Given the description of an element on the screen output the (x, y) to click on. 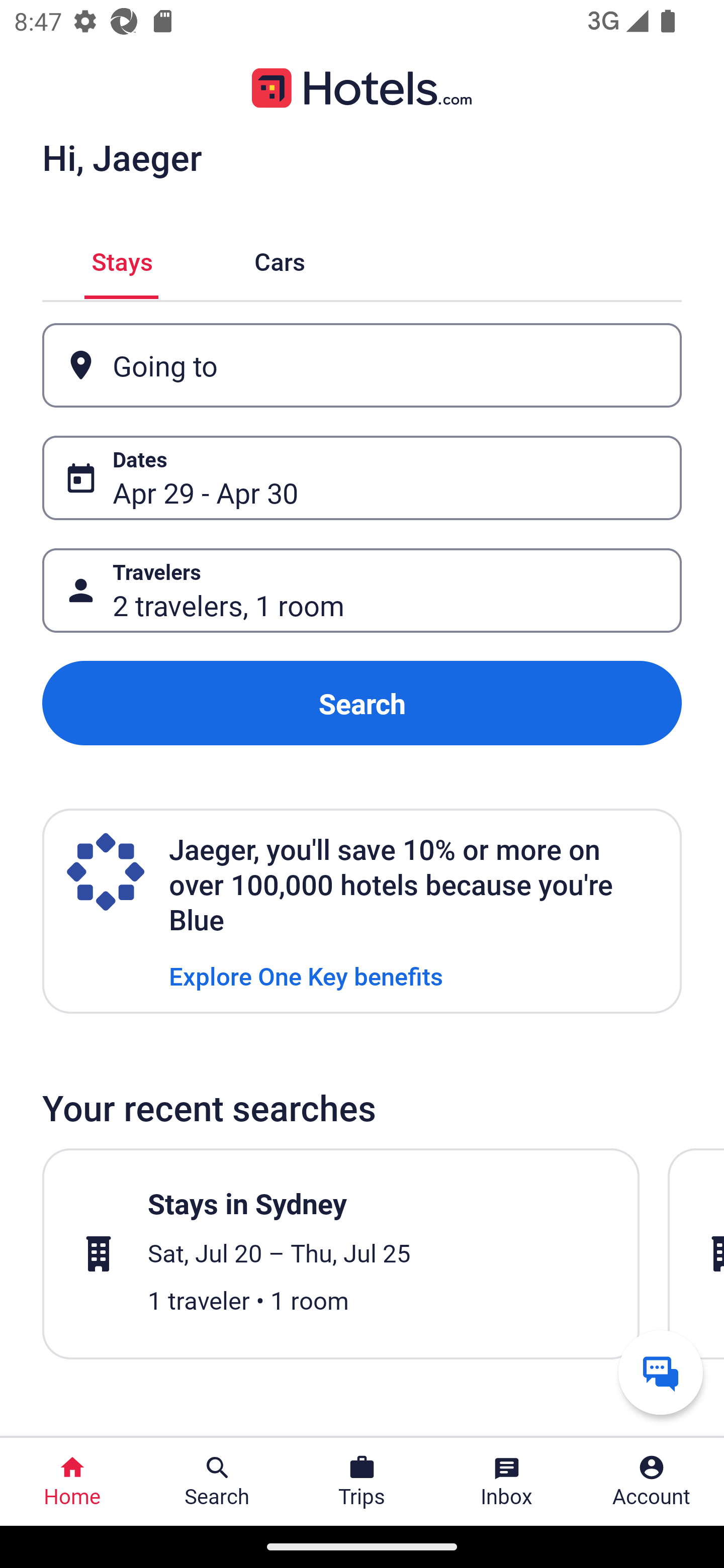
Hi, Jaeger (121, 156)
Cars (279, 259)
Going to Button (361, 365)
Dates Button Apr 29 - Apr 30 (361, 477)
Travelers Button 2 travelers, 1 room (361, 590)
Search (361, 702)
Get help from a virtual agent (660, 1371)
Search Search Button (216, 1481)
Trips Trips Button (361, 1481)
Inbox Inbox Button (506, 1481)
Account Profile. Button (651, 1481)
